Given the description of an element on the screen output the (x, y) to click on. 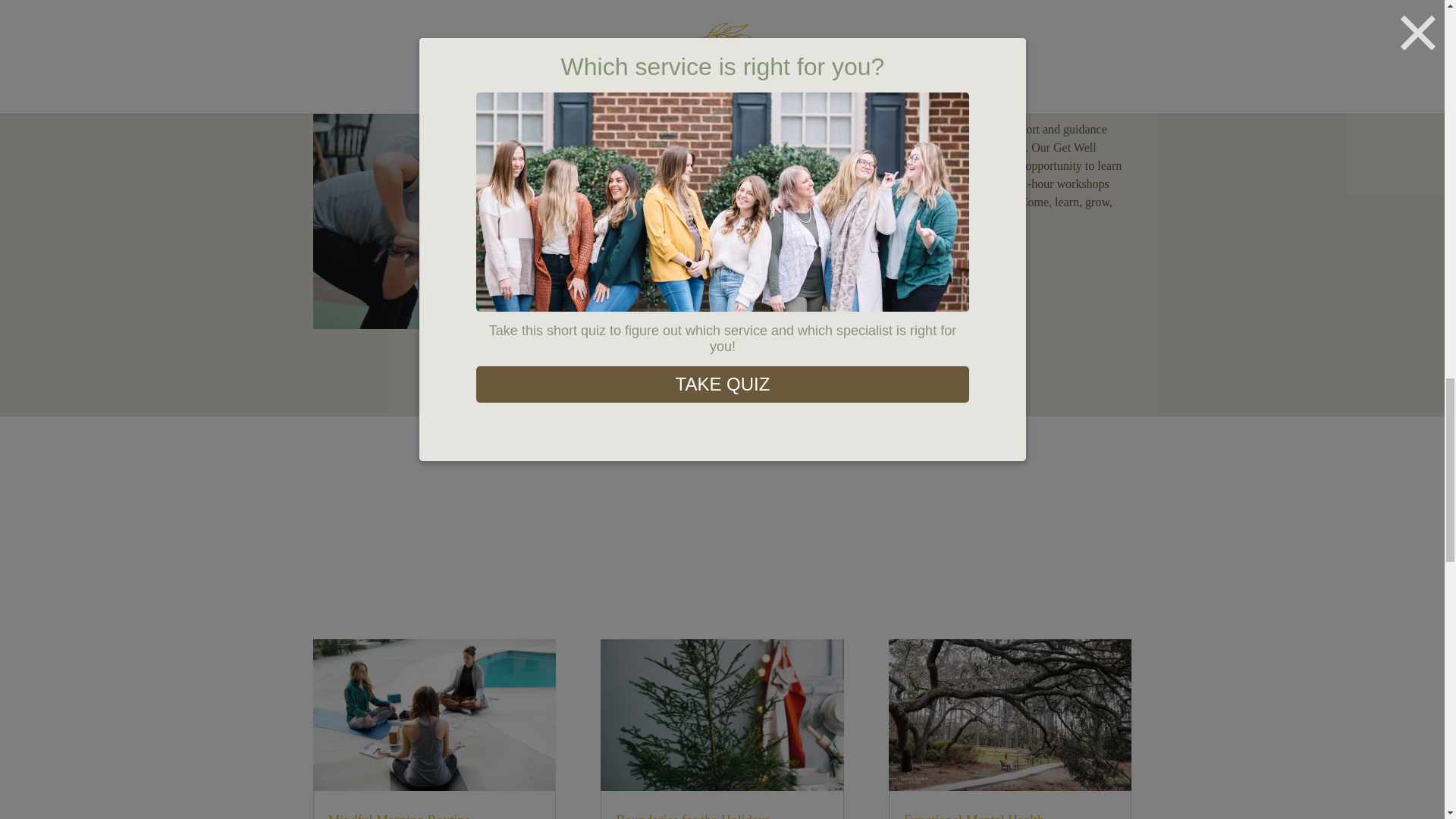
couch (937, 15)
Processed with VSCO with c8 preset (505, 200)
